Given the description of an element on the screen output the (x, y) to click on. 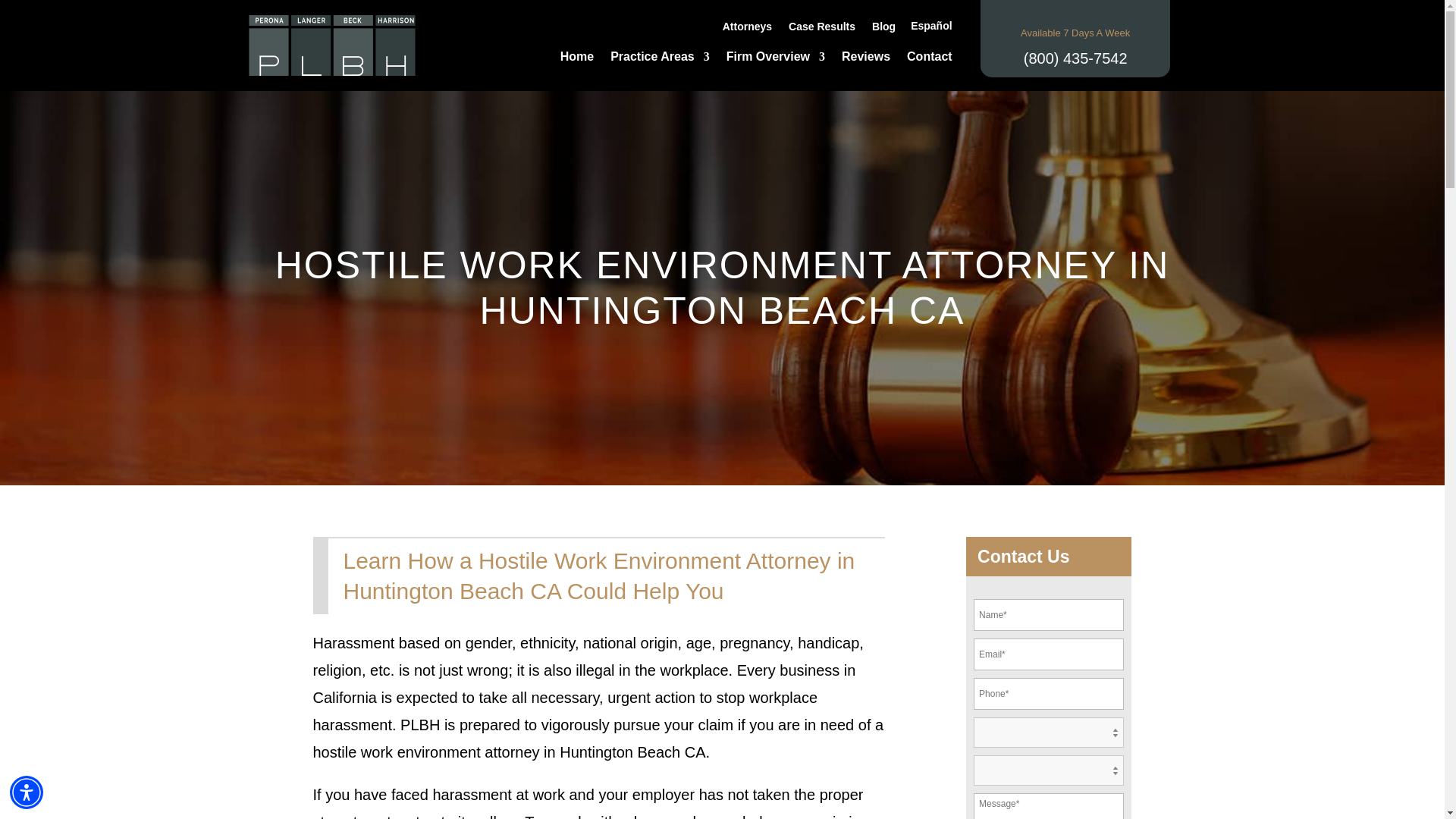
PLBH (331, 45)
Attorneys (746, 29)
Accessibility Menu (26, 792)
Reviews (865, 59)
Home (577, 59)
Case Results (822, 29)
Contact (929, 59)
Practice Areas (660, 59)
Firm Overview (775, 59)
Blog (883, 29)
